Given the description of an element on the screen output the (x, y) to click on. 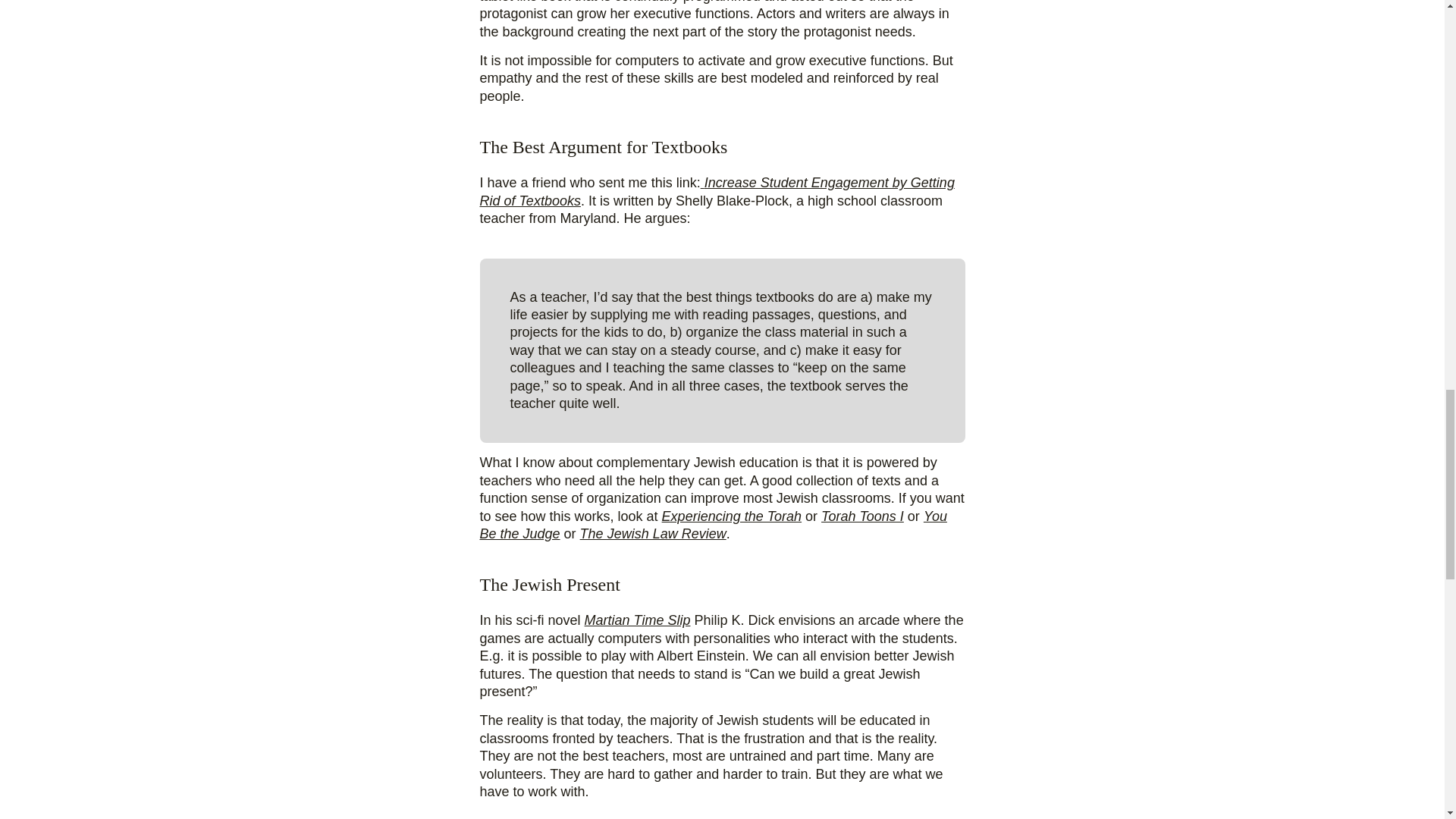
Martian Time Slip (637, 620)
